Given the description of an element on the screen output the (x, y) to click on. 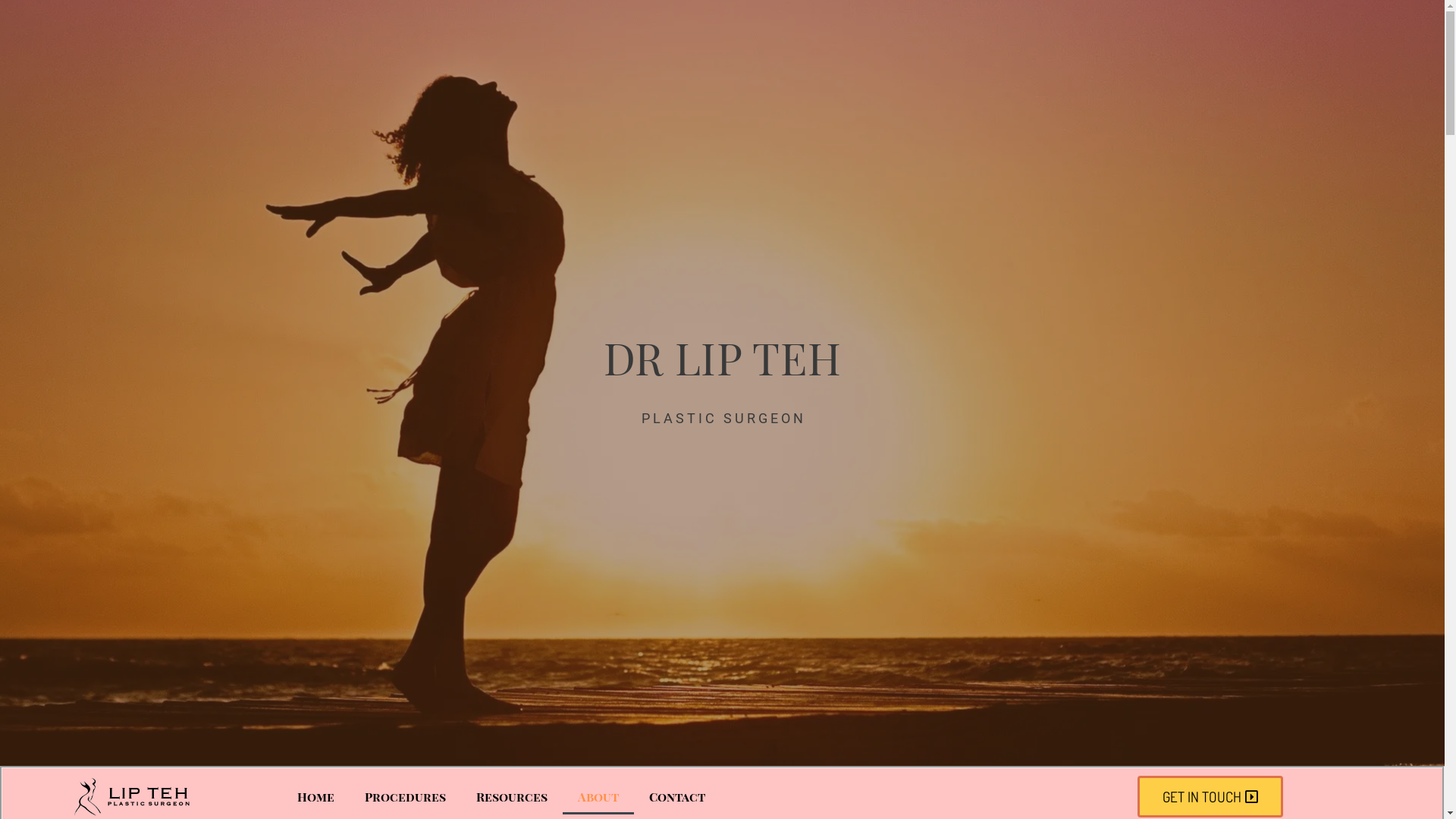
Procedures Element type: text (405, 796)
Skip to content Element type: text (15, 7)
Resources Element type: text (511, 796)
Home Element type: text (315, 796)
GET IN TOUCH Element type: text (1210, 796)
Contact Element type: text (676, 796)
About Element type: text (597, 796)
